Given the description of an element on the screen output the (x, y) to click on. 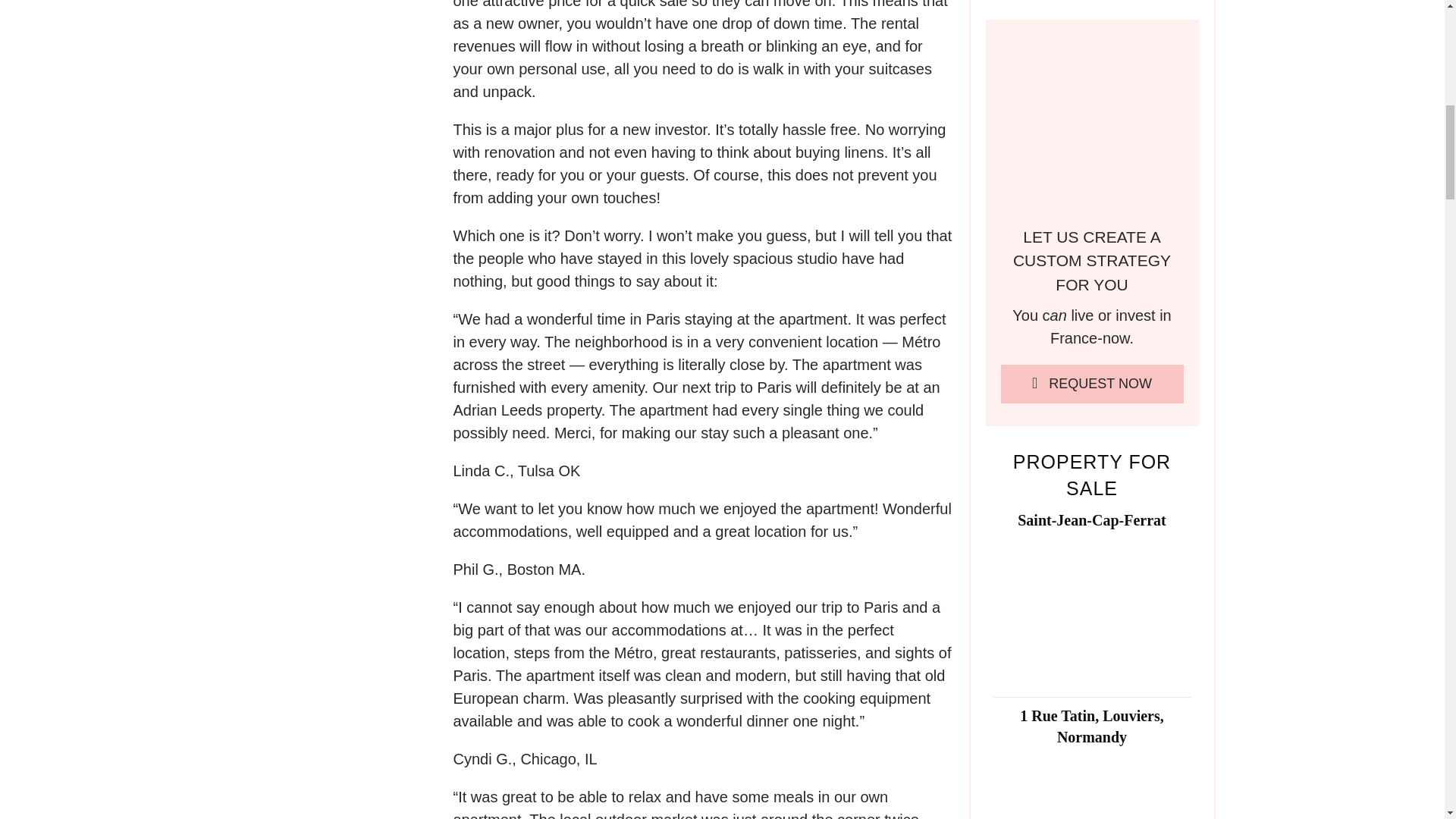
Le Grand Ciel (348, 583)
Le Grand Ciel (348, 431)
Le Grand Ciel (348, 737)
Le Grand Ciel (348, 41)
